Given the description of an element on the screen output the (x, y) to click on. 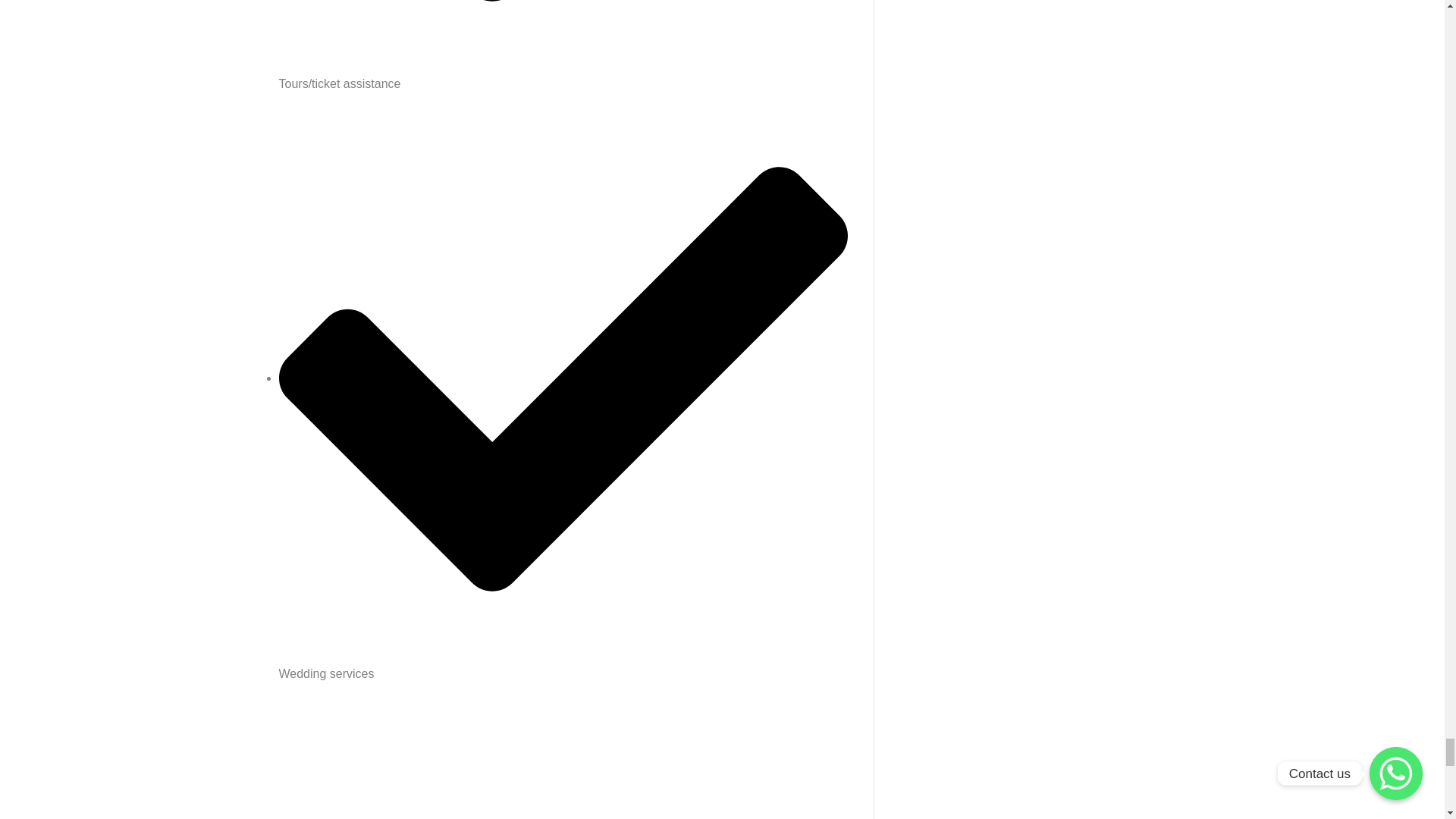
Bahama Bay kissimmee (563, 766)
